Given the description of an element on the screen output the (x, y) to click on. 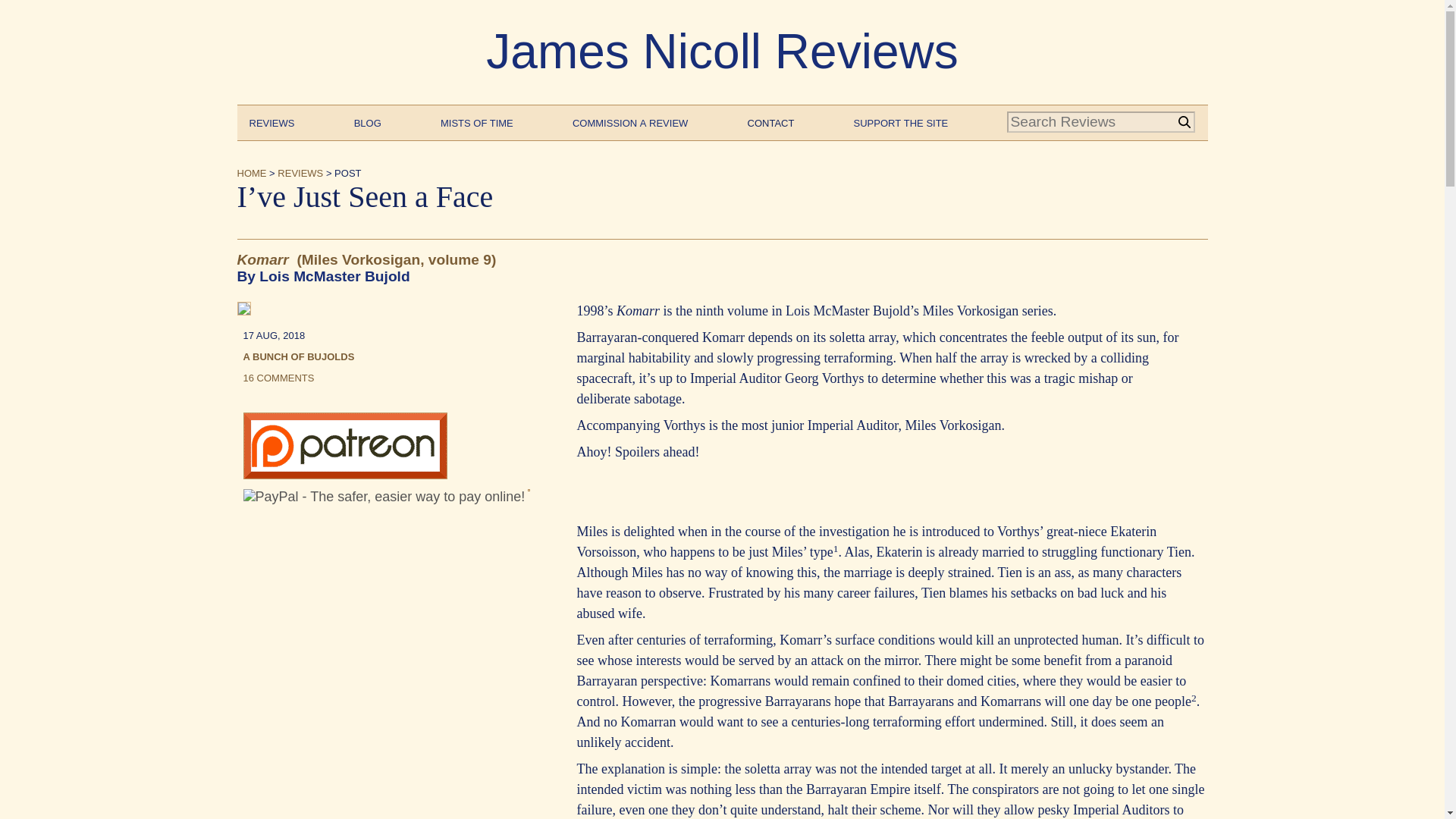
Blog (367, 121)
16 comments (278, 376)
Commission a Review (629, 121)
Reviews (271, 121)
Reviews (300, 171)
Support the Site (901, 121)
A Bunch of Bujolds (298, 355)
Patreon (344, 474)
Home (250, 171)
Mists of Time (477, 121)
